Given the description of an element on the screen output the (x, y) to click on. 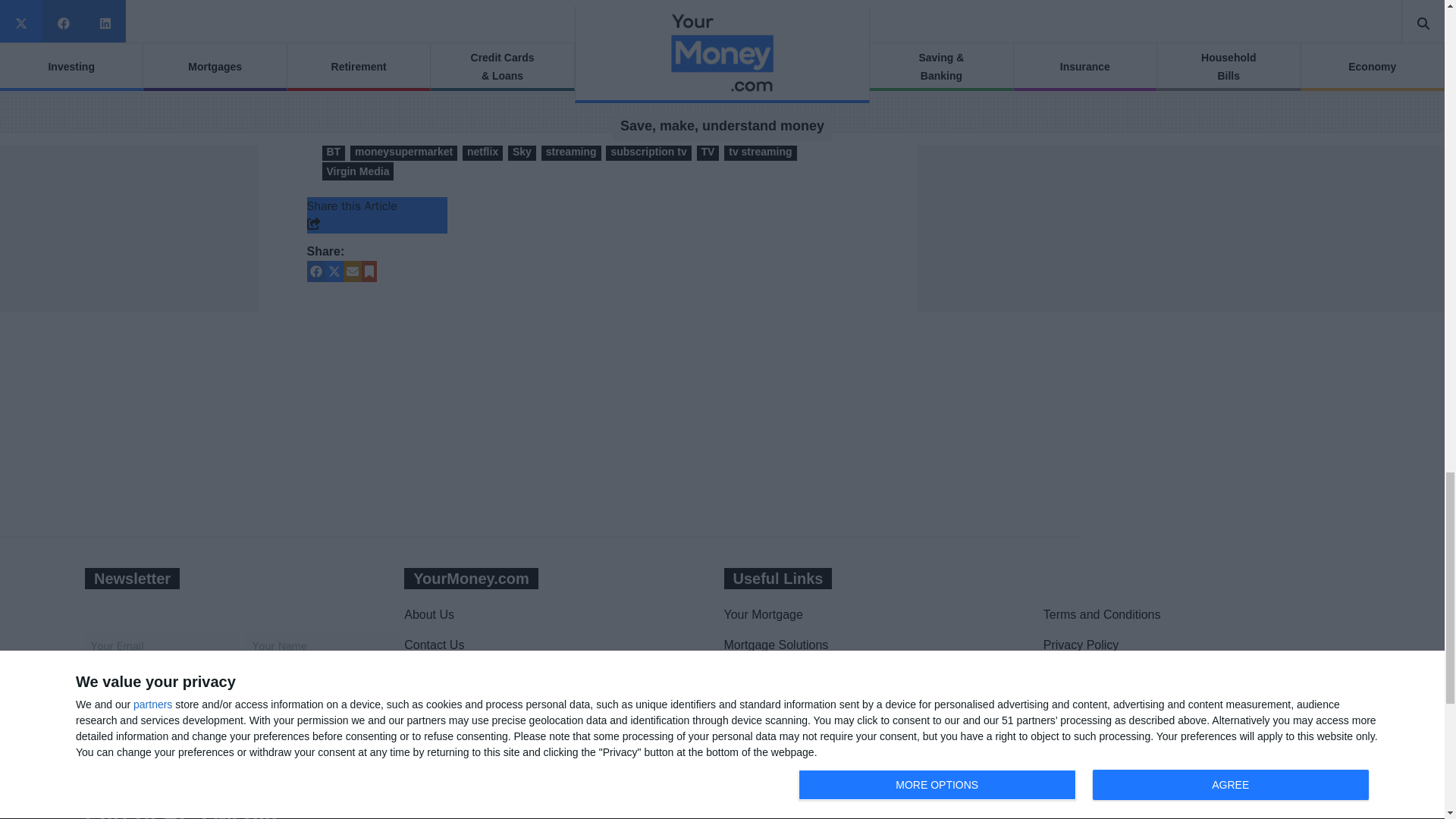
Sign Up (179, 700)
